Given the description of an element on the screen output the (x, y) to click on. 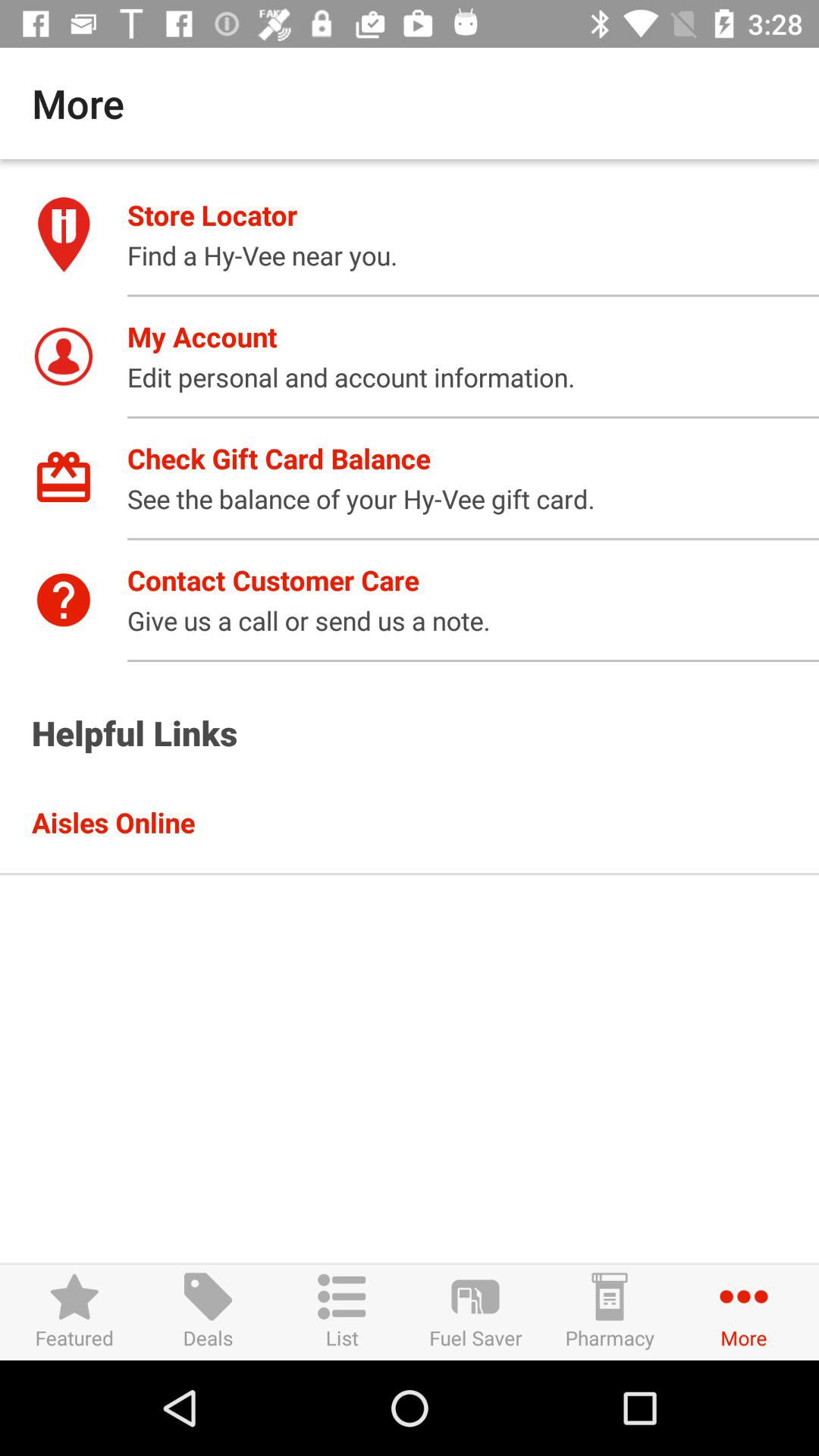
choose the aisles online (425, 822)
